Given the description of an element on the screen output the (x, y) to click on. 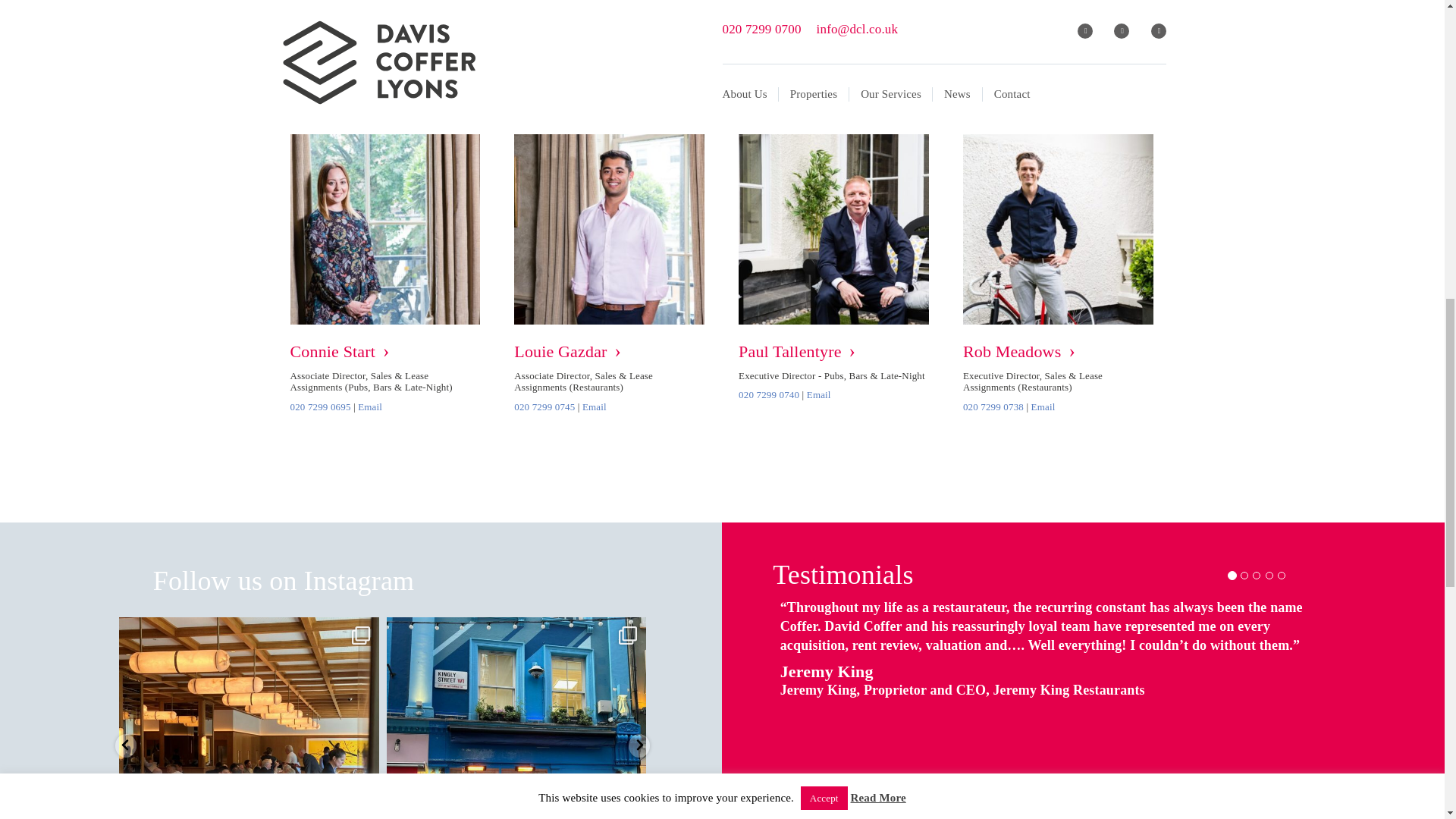
Connie Start (384, 350)
020 7299 0745 (544, 406)
Louie Gazdar (608, 350)
020 7299 0695 (319, 406)
Expert Witness Service (1017, 8)
Email (369, 406)
